Given the description of an element on the screen output the (x, y) to click on. 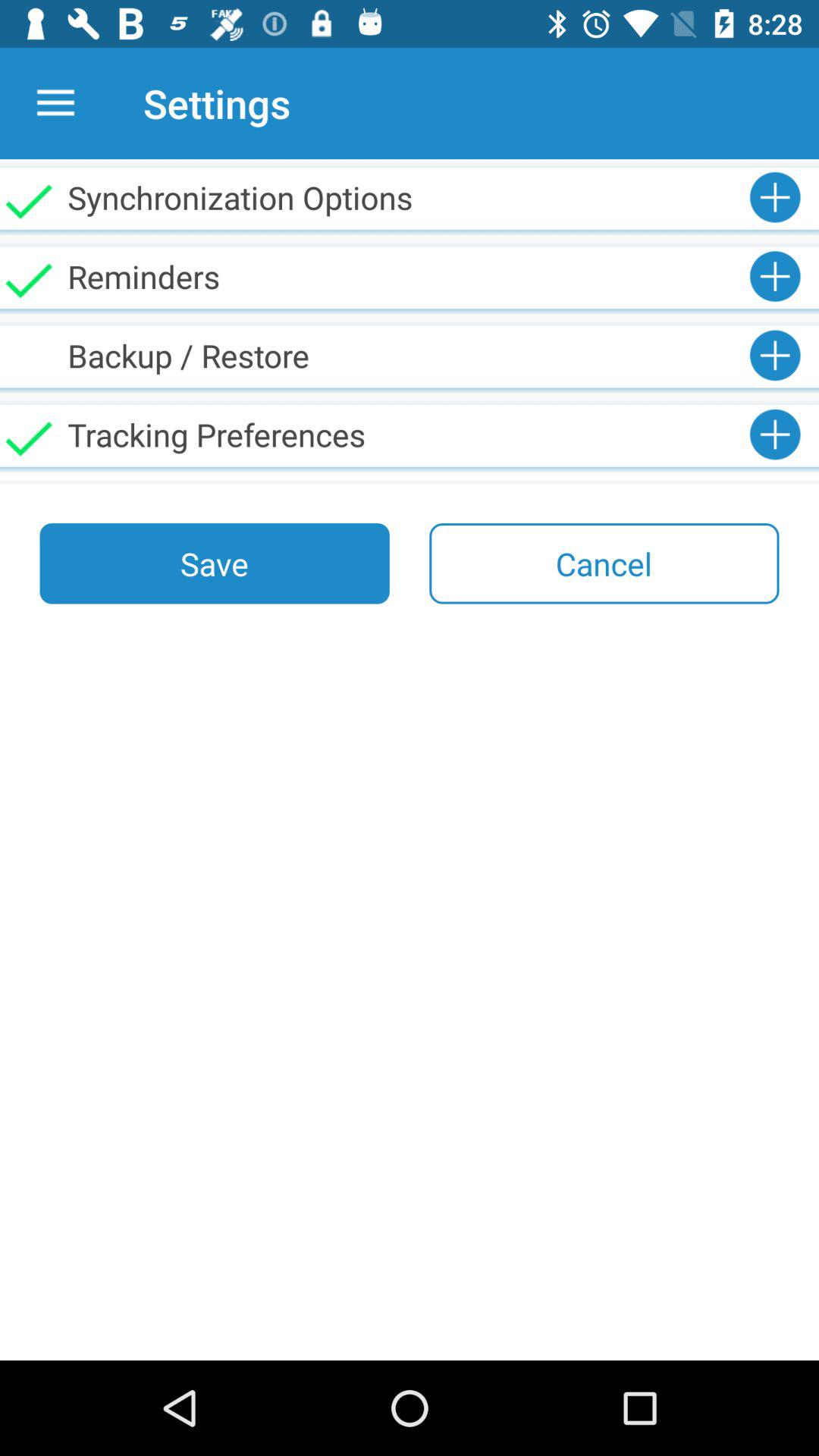
turn on icon next to the settings icon (55, 103)
